Given the description of an element on the screen output the (x, y) to click on. 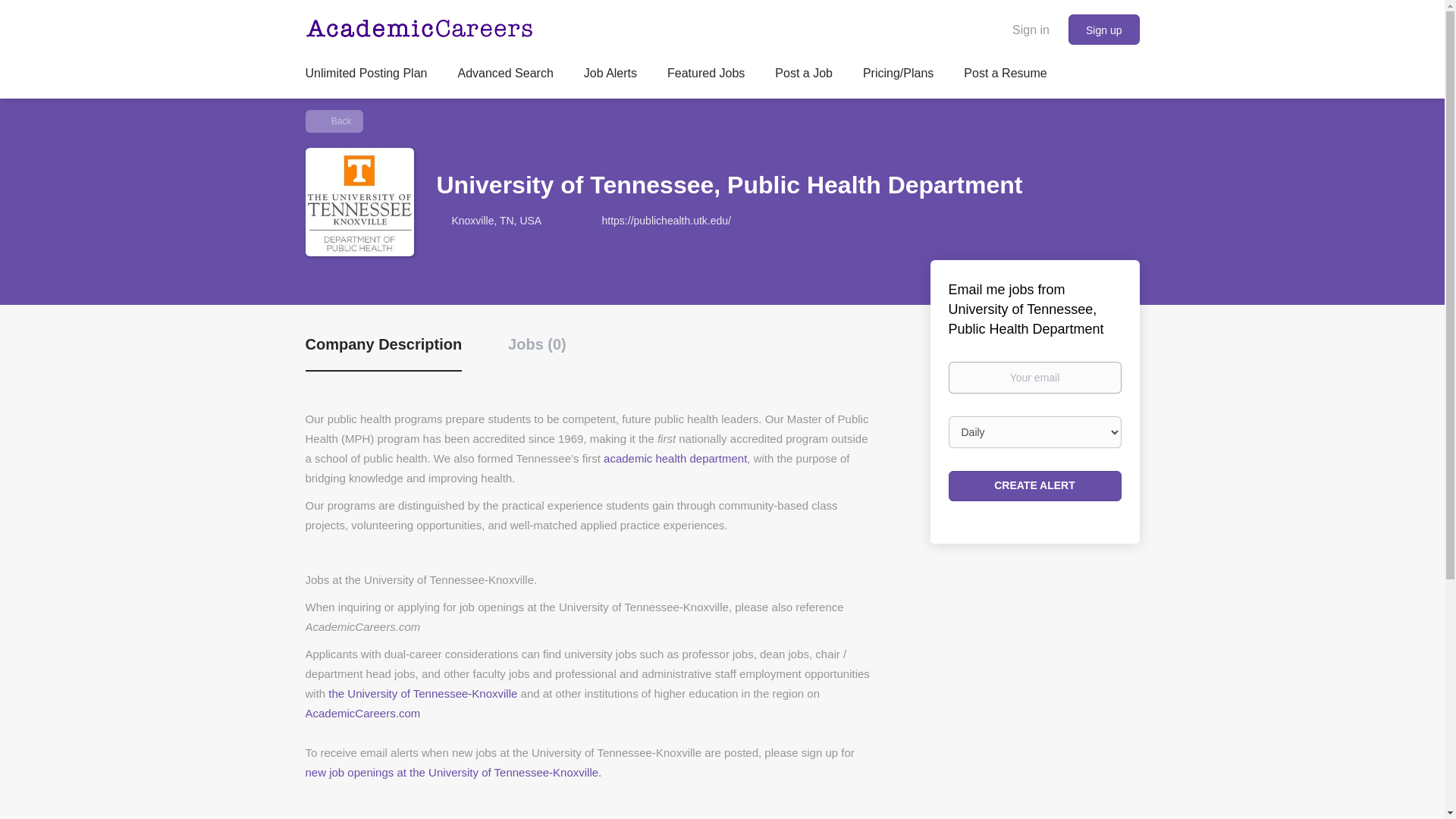
Advanced Search (505, 75)
Post a Resume (1004, 75)
Sign up (1103, 29)
Back (333, 120)
Company Description (382, 352)
Create alert (1034, 485)
Create alert (1034, 485)
Unlimited Posting Plan (365, 75)
academic health department (675, 458)
Sign in (1031, 28)
Featured Jobs (705, 75)
the University of Tennessee-Knoxville (422, 693)
AcademicCareers.com (362, 712)
Job Alerts (610, 75)
Post a Job (803, 75)
